Given the description of an element on the screen output the (x, y) to click on. 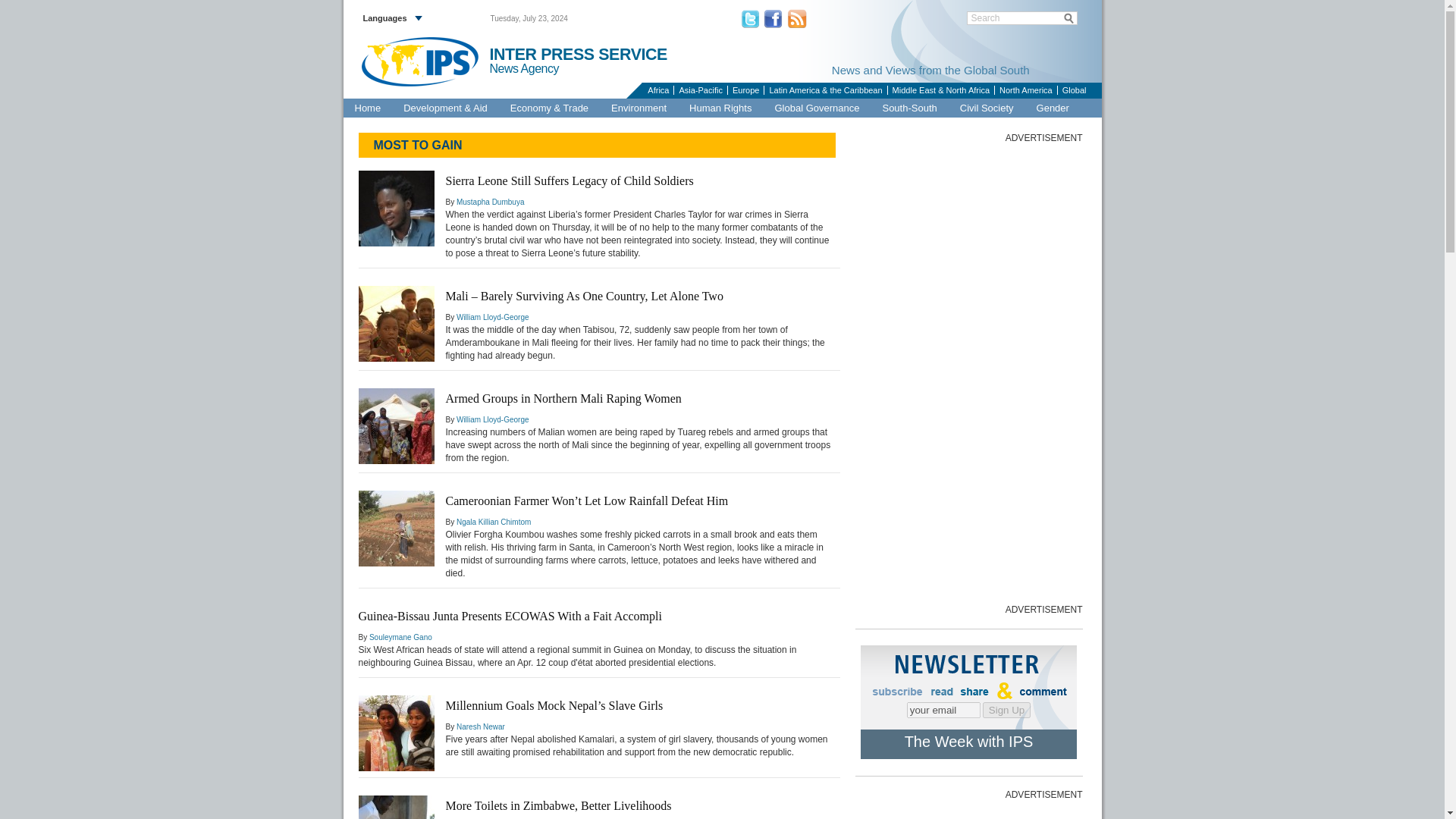
North America (1025, 90)
News Agency (531, 69)
Guinea-Bissau Junta Presents ECOWAS With a Fait Accompli (509, 615)
Home (366, 107)
Armed Groups in Northern Mali Raping Women (563, 398)
Global (1073, 90)
Europe (744, 90)
Asia-Pacific (699, 90)
Sierra Leone Still Suffers Legacy of Child Soldiers (569, 180)
Posts by Ngala Killian Chimtom (494, 521)
Search (1022, 18)
Posts by Mustapha Dumbuya (490, 202)
INTER PRESS SERVICE (577, 54)
Sign Up (1006, 709)
Africa (657, 90)
